Given the description of an element on the screen output the (x, y) to click on. 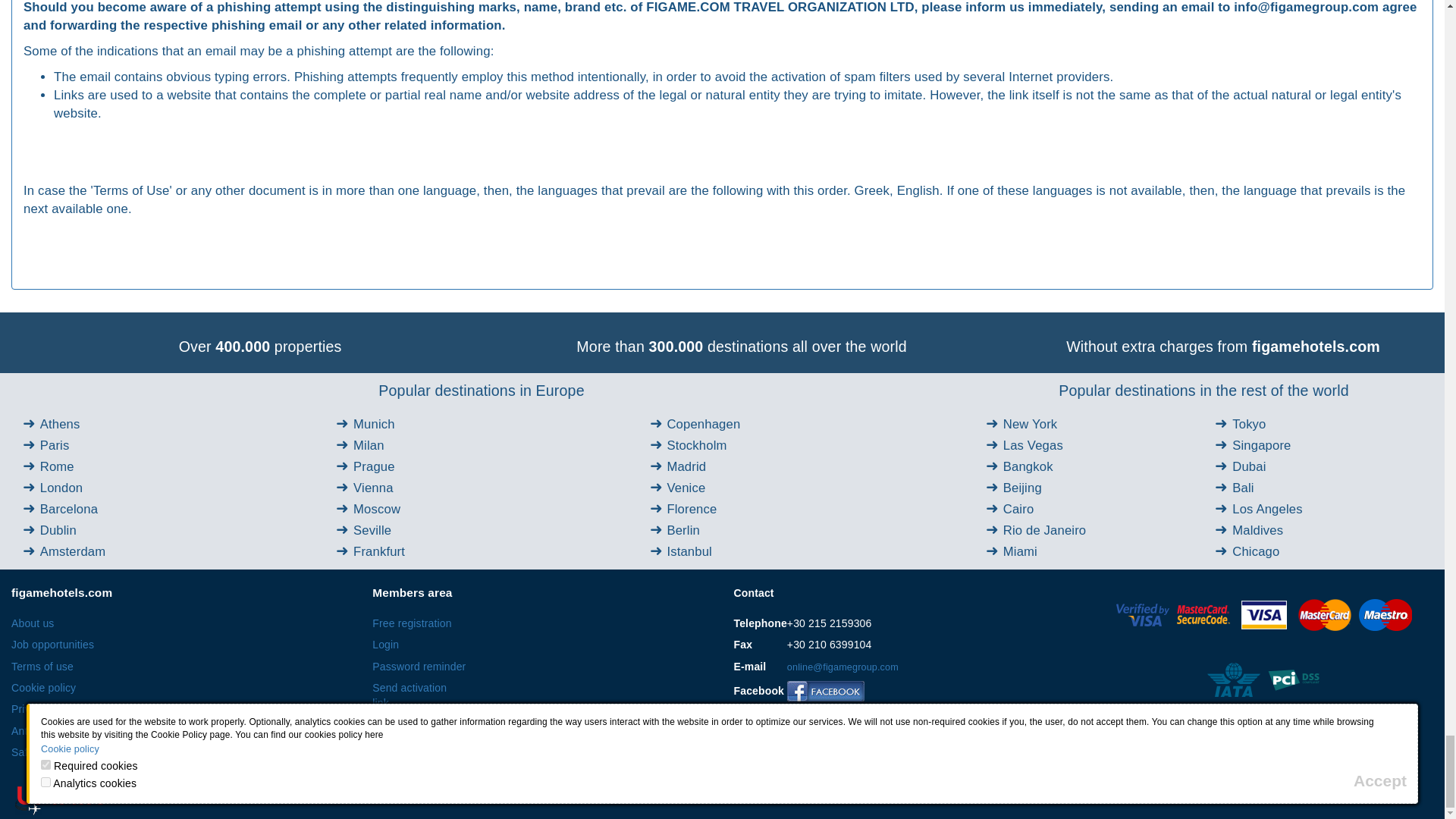
London (61, 487)
Bangkok (1027, 466)
Florence (691, 509)
Stockholm (696, 445)
Seville (372, 530)
Barcelona (68, 509)
New York (1030, 423)
Istanbul (688, 551)
Madrid (686, 466)
Rome (57, 466)
Milan (368, 445)
Munich (373, 423)
Copenhagen (702, 423)
Athens (60, 423)
Facebook (825, 690)
